Given the description of an element on the screen output the (x, y) to click on. 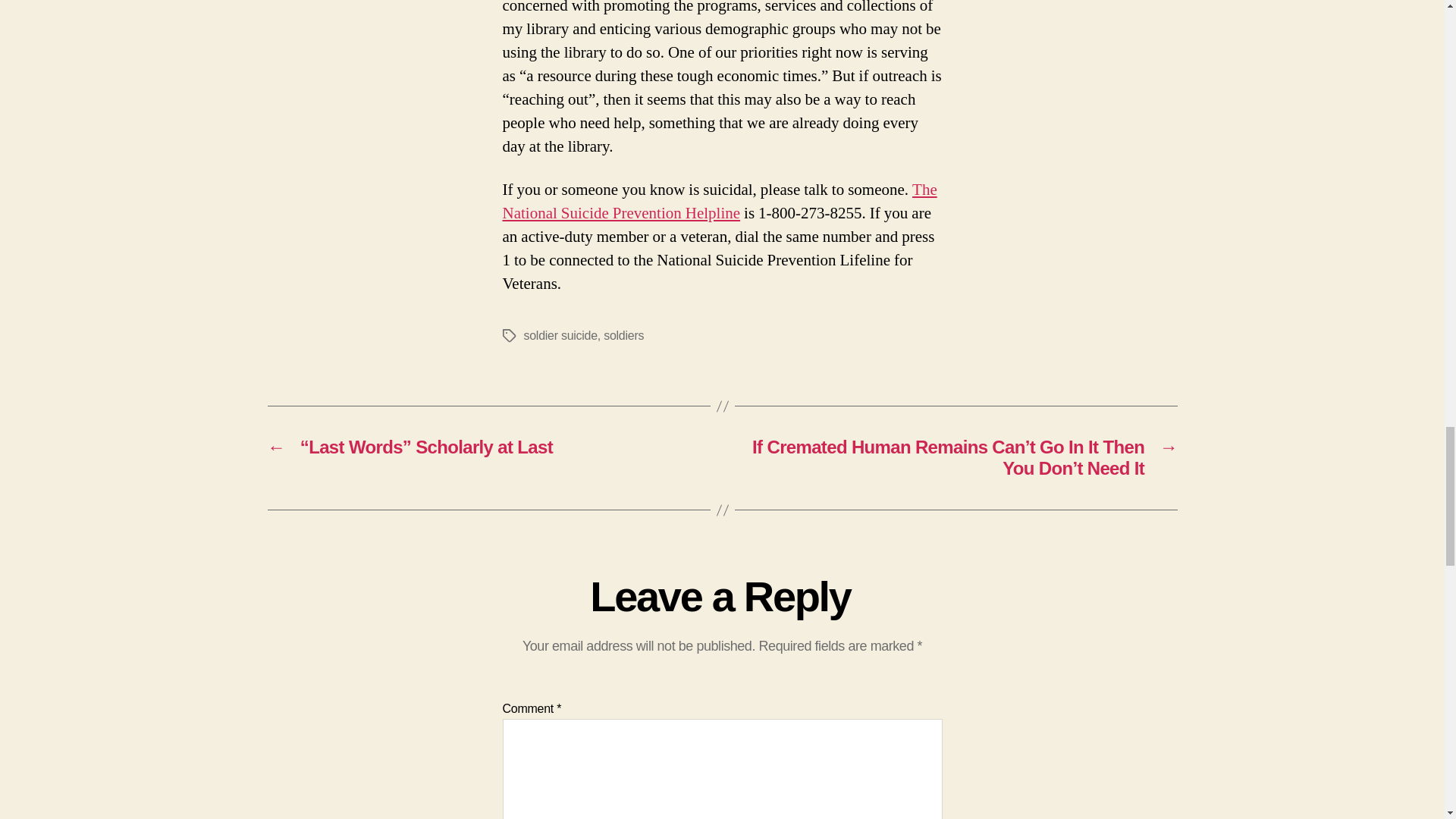
soldiers (623, 335)
soldier suicide (559, 335)
The National Suicide Prevention Helpline (719, 201)
